Given the description of an element on the screen output the (x, y) to click on. 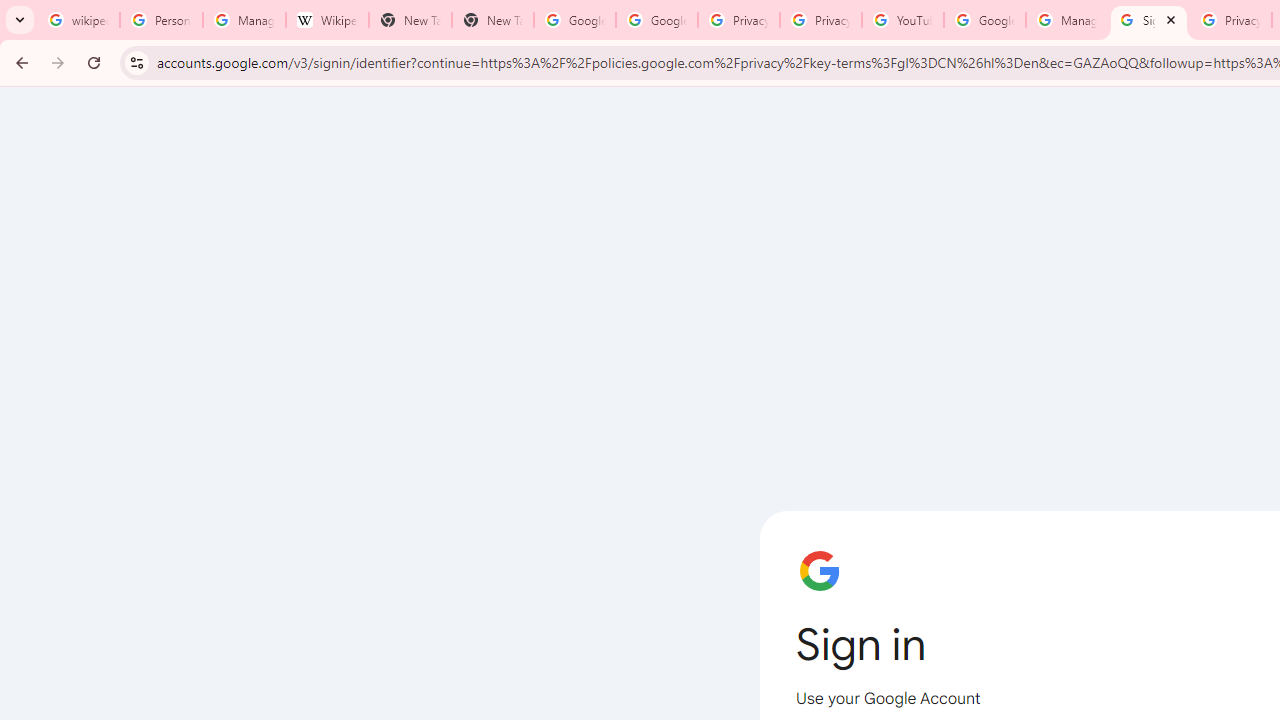
Wikipedia:Edit requests - Wikipedia (326, 20)
Google Drive: Sign-in (656, 20)
Manage your Location History - Google Search Help (244, 20)
Personalization & Google Search results - Google Search Help (161, 20)
New Tab (409, 20)
